Given the description of an element on the screen output the (x, y) to click on. 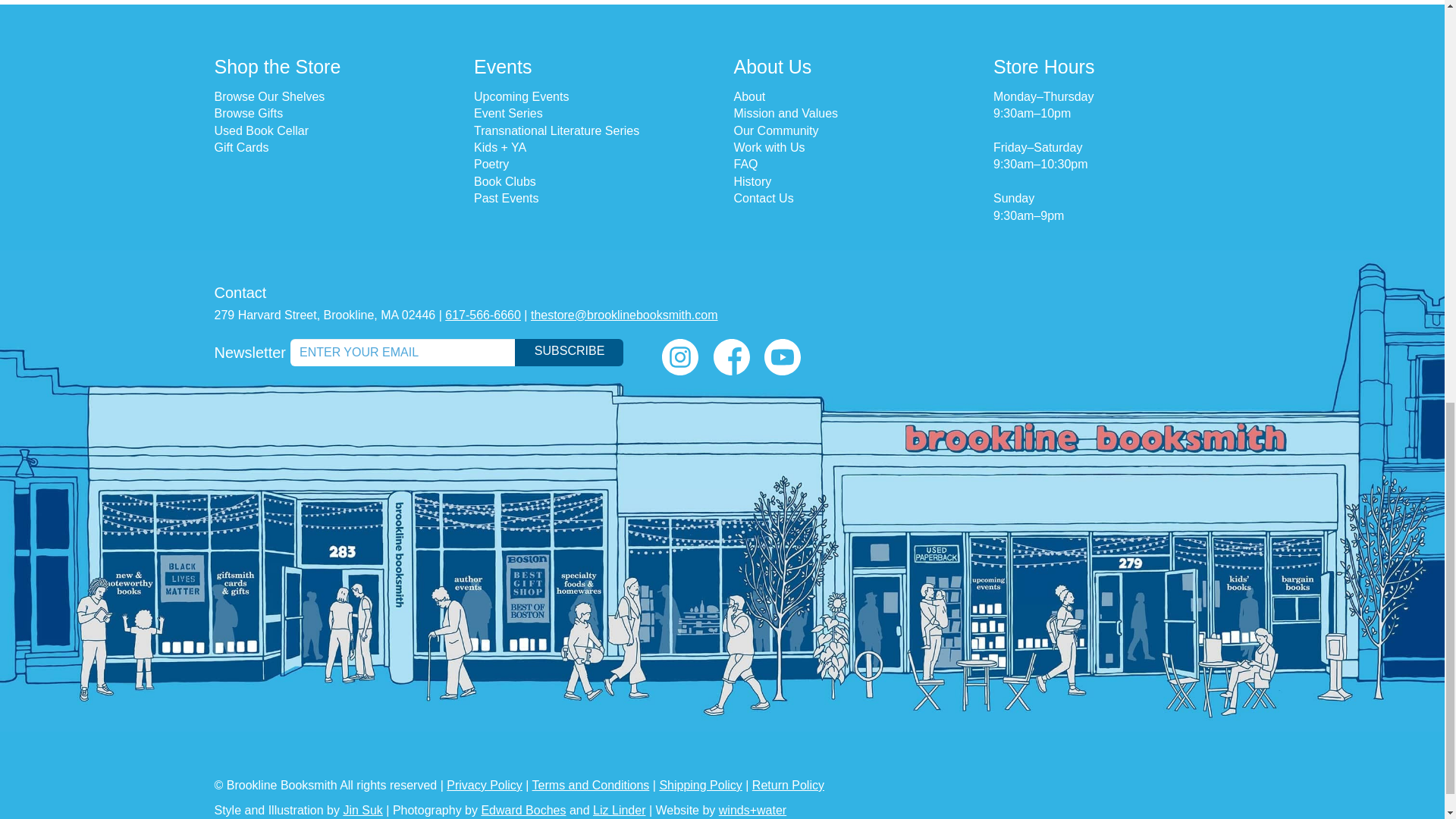
Subscribe (569, 352)
